Given the description of an element on the screen output the (x, y) to click on. 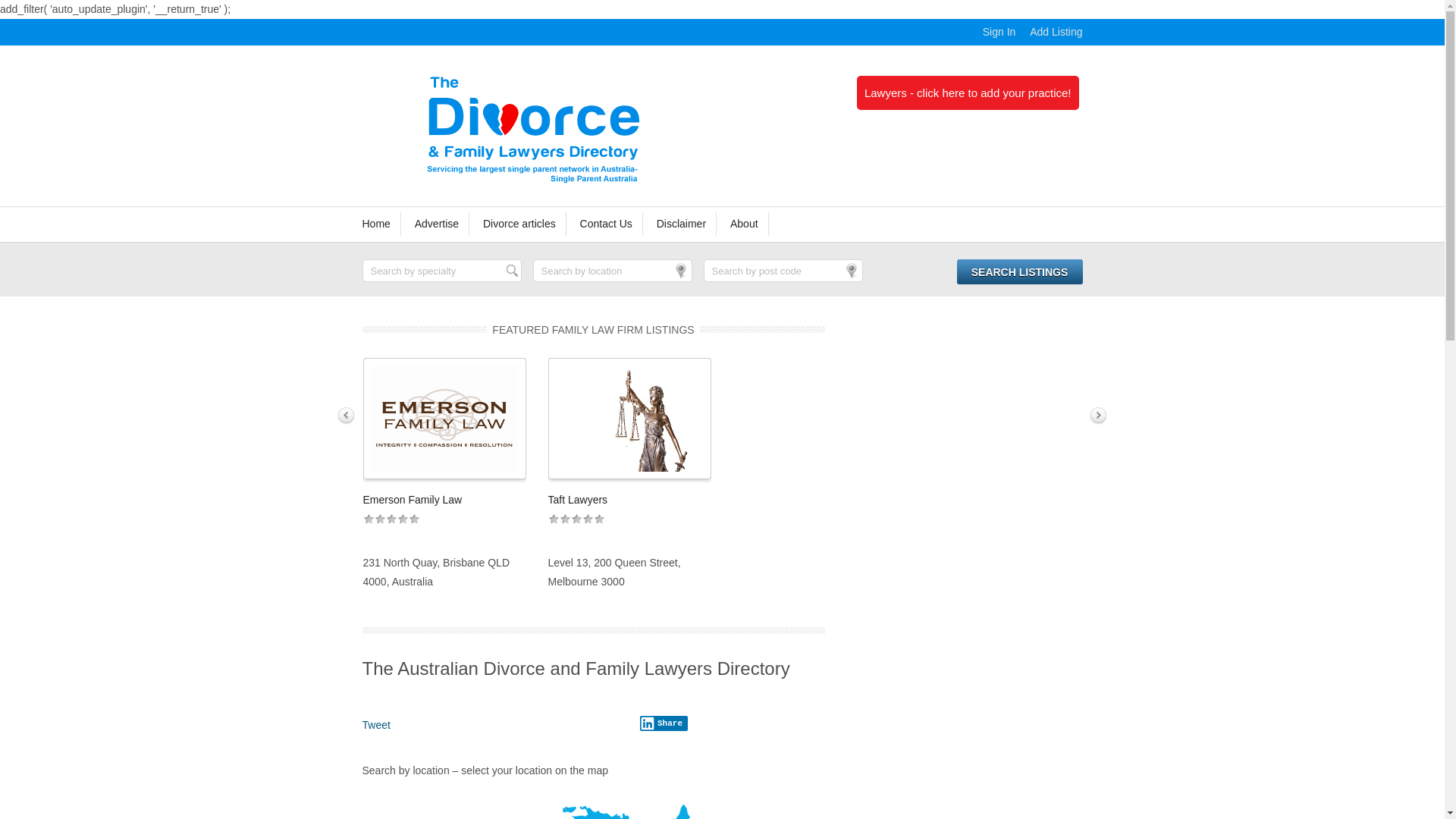
Add Listing Element type: text (1055, 31)
Disclaimer Element type: text (681, 223)
About Element type: text (744, 223)
Home Element type: text (381, 223)
Emerson Family Law Element type: text (411, 499)
Divorce articles Element type: text (520, 223)
Search Listings Element type: text (1019, 271)
Advertise Element type: text (437, 223)
Sign In Element type: text (999, 31)
Contact Us Element type: text (606, 223)
Share Element type: text (664, 723)
Tweet Element type: text (376, 724)
Lawyers - click here to add your practice! Element type: text (967, 92)
Taft Lawyers Element type: text (577, 499)
